Given the description of an element on the screen output the (x, y) to click on. 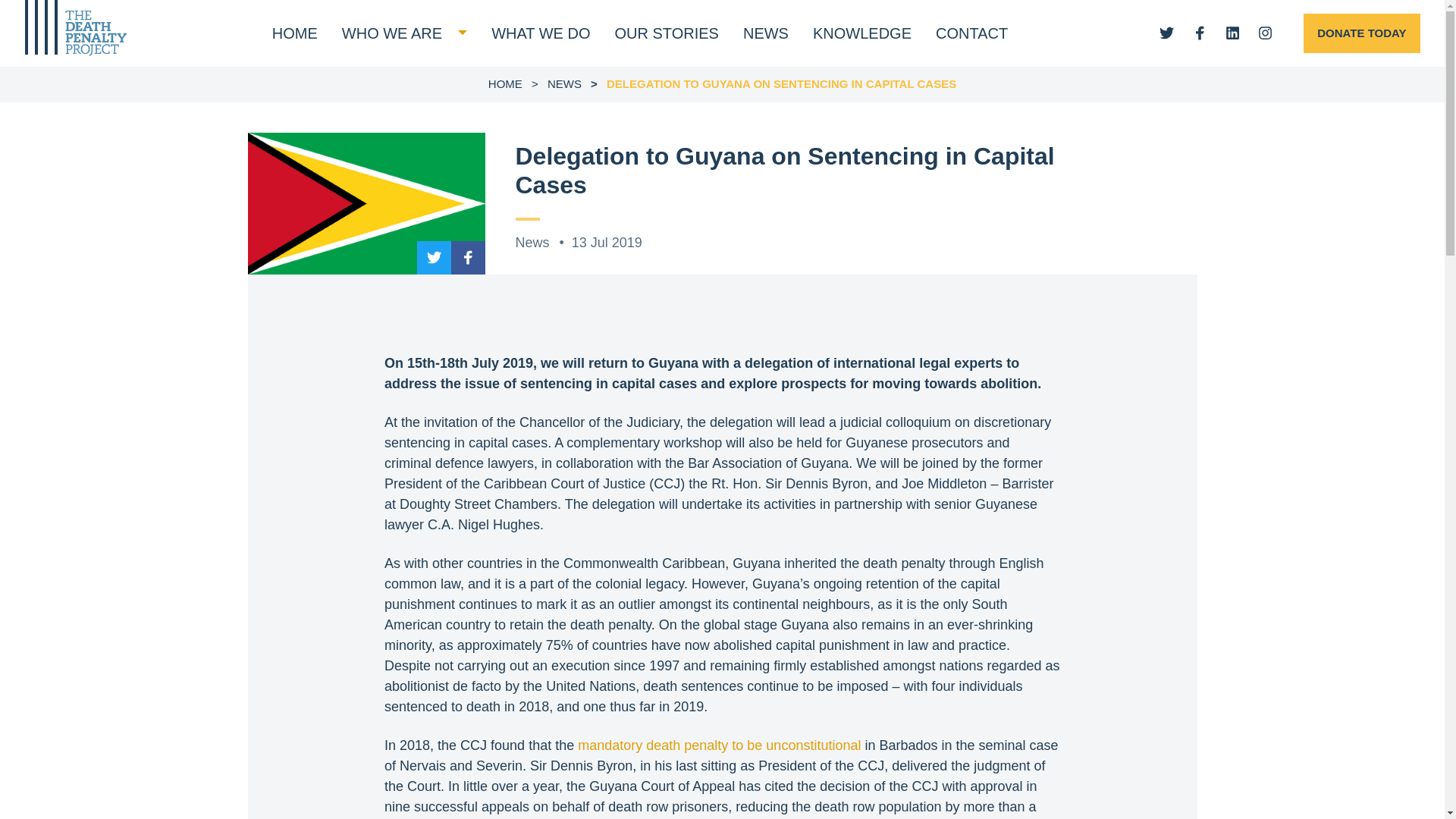
Our Twitter (1166, 32)
Our LinkedIn (1233, 32)
mandatory death penalty to be unconstitutional (719, 744)
Our Instagram (1265, 32)
Our Facebook (467, 257)
Our Twitter (433, 257)
DONATE TODAY (1361, 33)
NEWS (765, 32)
HOME (504, 83)
